Given the description of an element on the screen output the (x, y) to click on. 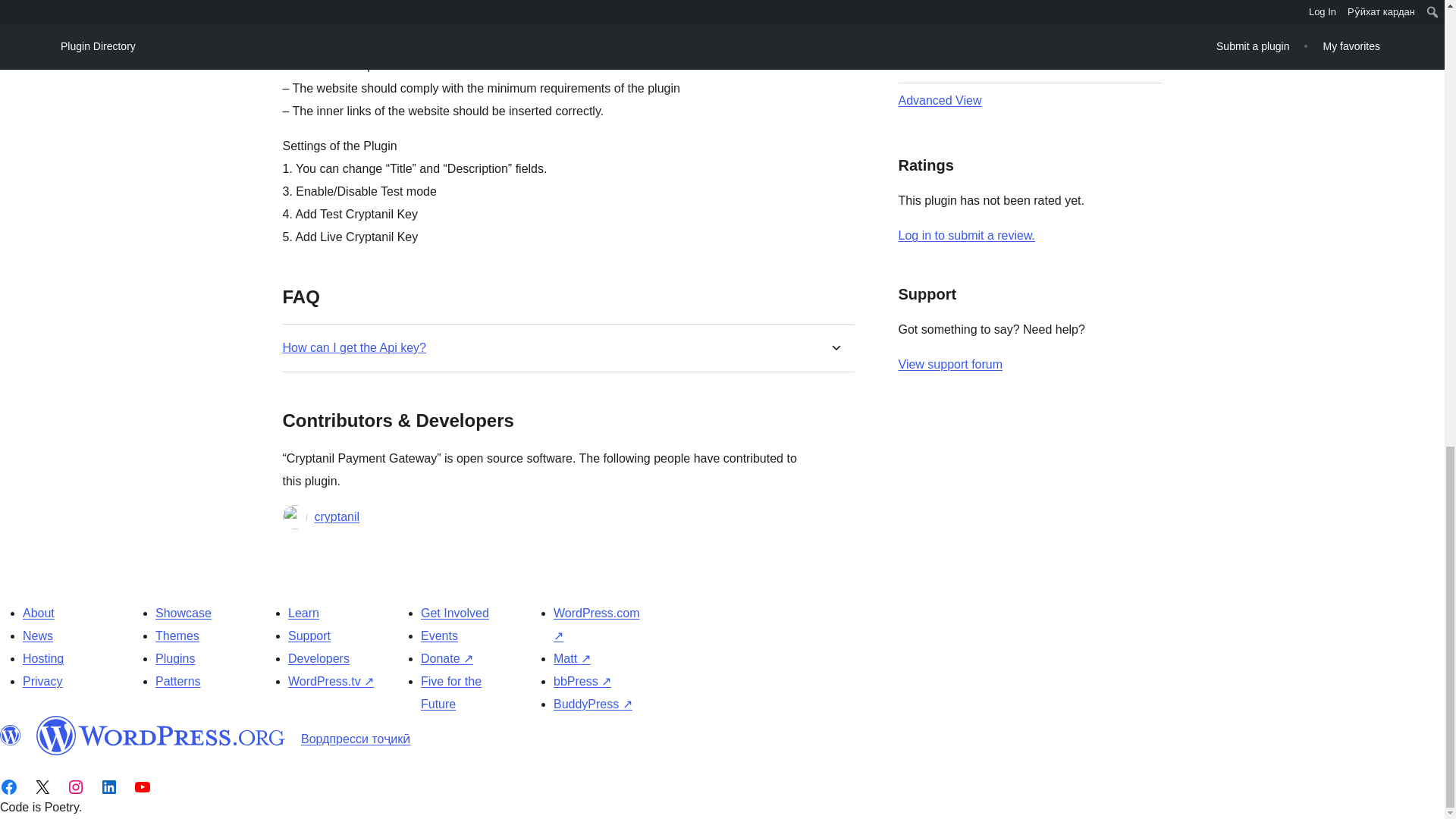
How can I get the Api key? (353, 347)
cryptanil (336, 517)
WordPress.org (10, 735)
WordPress.org (160, 735)
Log in to WordPress.org (966, 235)
